Given the description of an element on the screen output the (x, y) to click on. 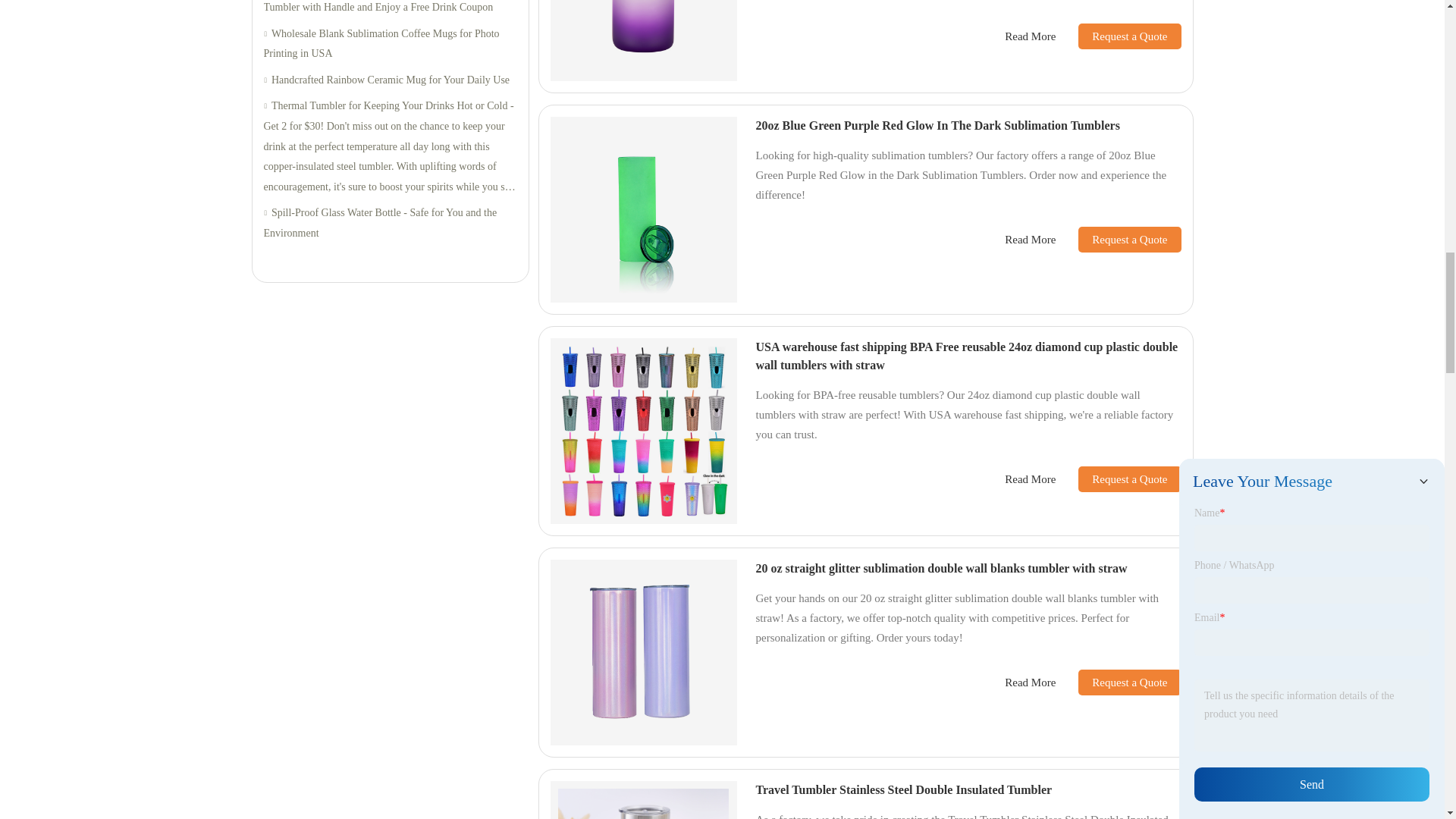
Handcrafted Rainbow Ceramic Mug for Your Daily Use (389, 80)
